Given the description of an element on the screen output the (x, y) to click on. 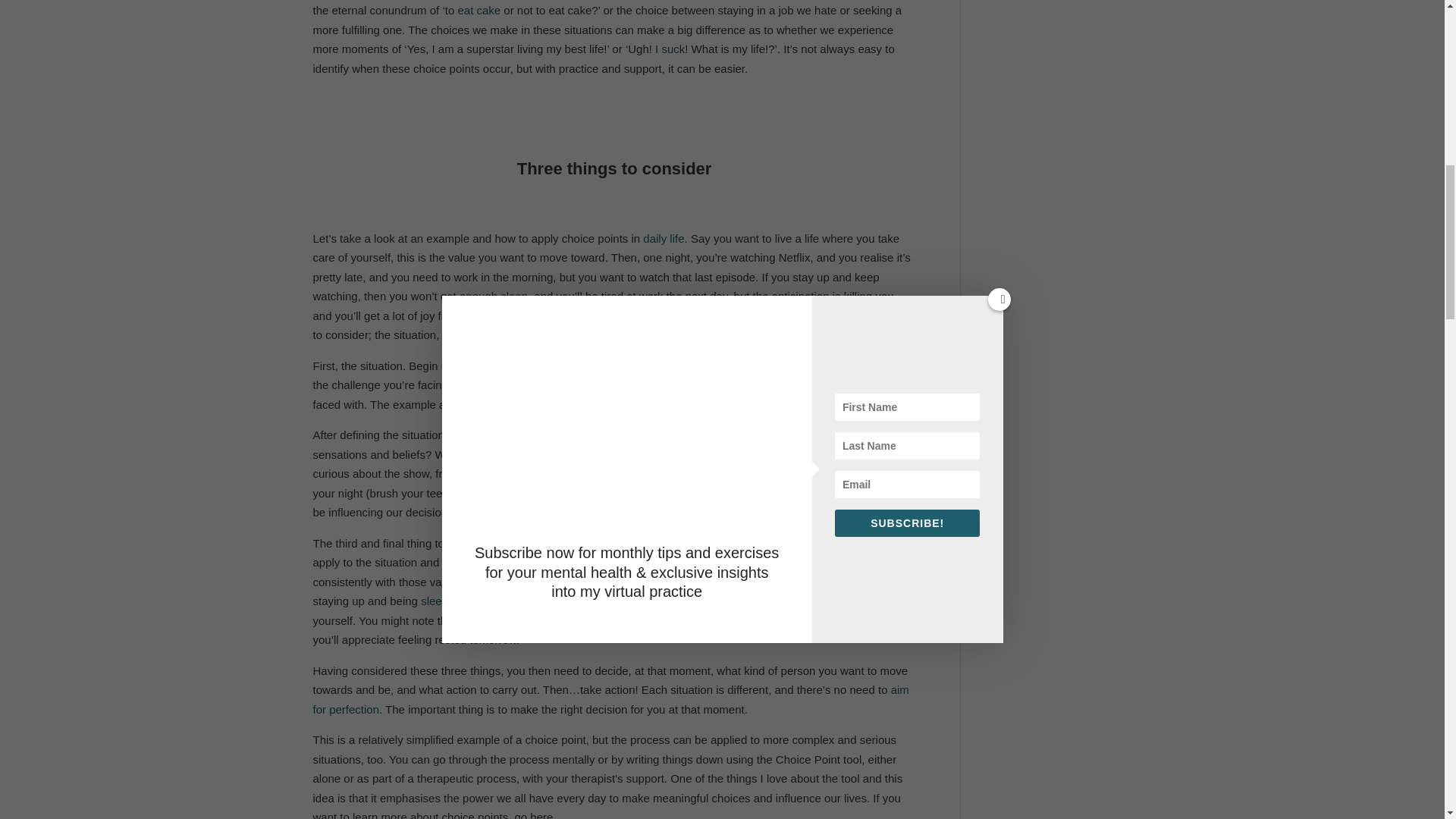
daily life (663, 237)
aim for perfection (610, 699)
enough sleep (493, 295)
thoughts (816, 434)
eat cake (478, 10)
I suck (669, 48)
feelings (863, 434)
sleep-deprived (457, 600)
